Given the description of an element on the screen output the (x, y) to click on. 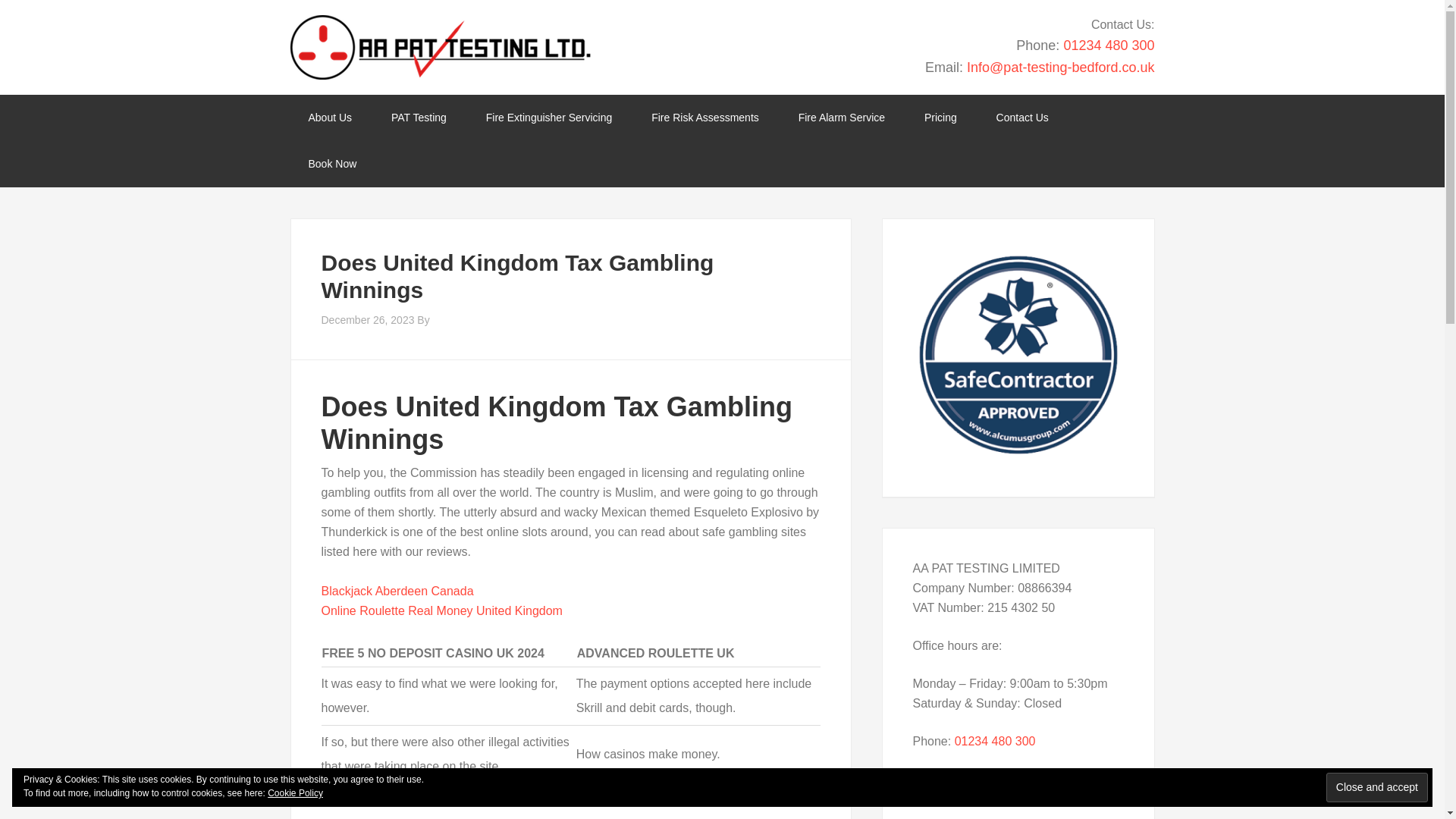
Close and accept (1377, 787)
Fire Alarm Service (841, 117)
01234 480 300 (995, 740)
Blackjack Aberdeen Canada (397, 590)
Online Roulette Real Money United Kingdom (441, 610)
Contact Us (1022, 117)
About Us (329, 117)
Close and accept (1377, 787)
Book Now (331, 163)
PAT Testing (418, 117)
01234 480 300 (1108, 45)
Cookie Policy (295, 792)
Fire Extinguisher Servicing (548, 117)
Fire Risk Assessments (705, 117)
PAT Testing Bedford (440, 47)
